Given the description of an element on the screen output the (x, y) to click on. 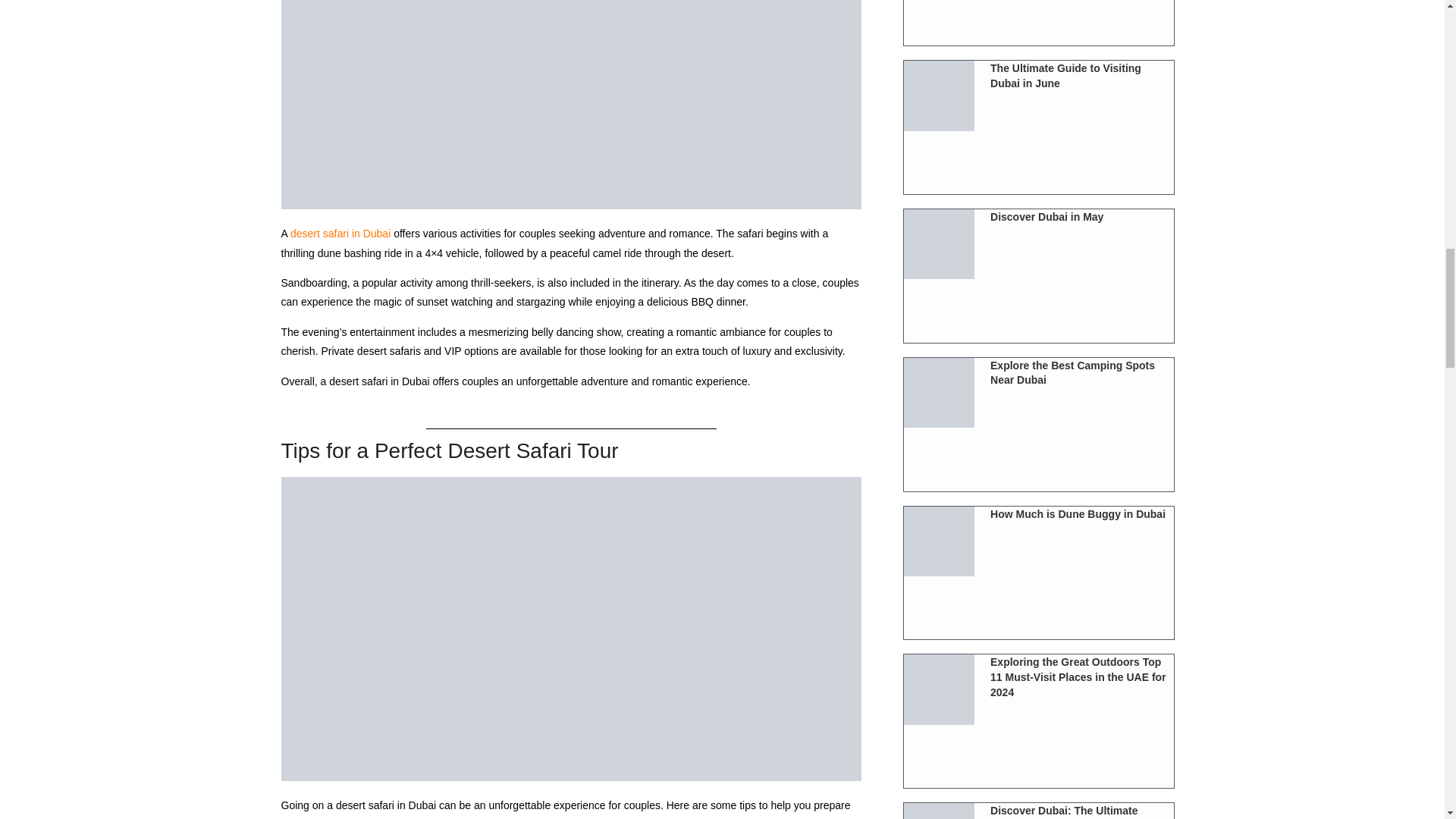
desert safari in Dubai (339, 233)
